Given the description of an element on the screen output the (x, y) to click on. 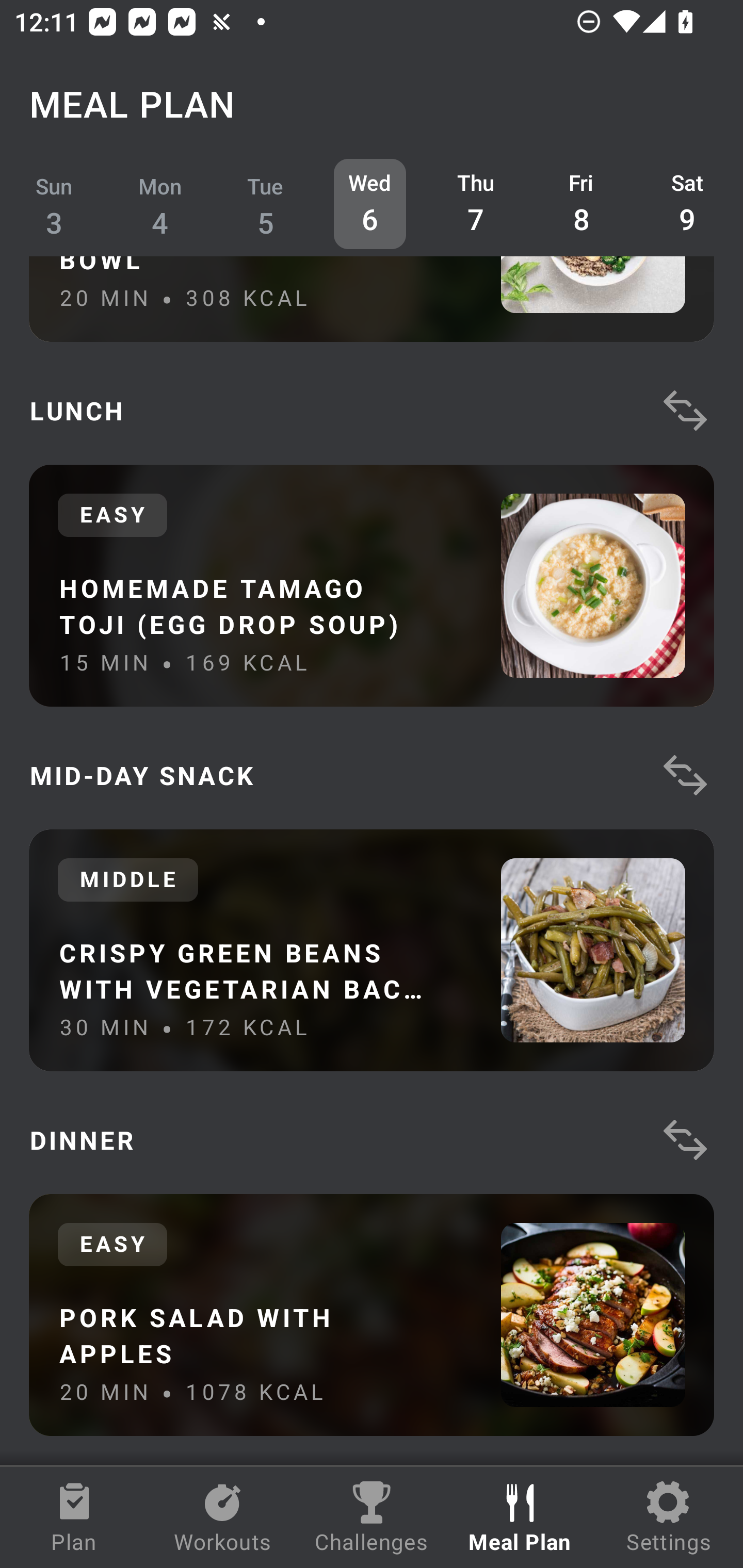
Wed 6 (369, 203)
Thu 7 (475, 203)
Fri 8 (581, 203)
Sat 9 (687, 203)
EASY PORK SALAD WITH APPLES 20 MIN • 1078 KCAL (371, 1315)
 Plan  (74, 1517)
 Workouts  (222, 1517)
 Challenges  (371, 1517)
 Settings  (668, 1517)
